Given the description of an element on the screen output the (x, y) to click on. 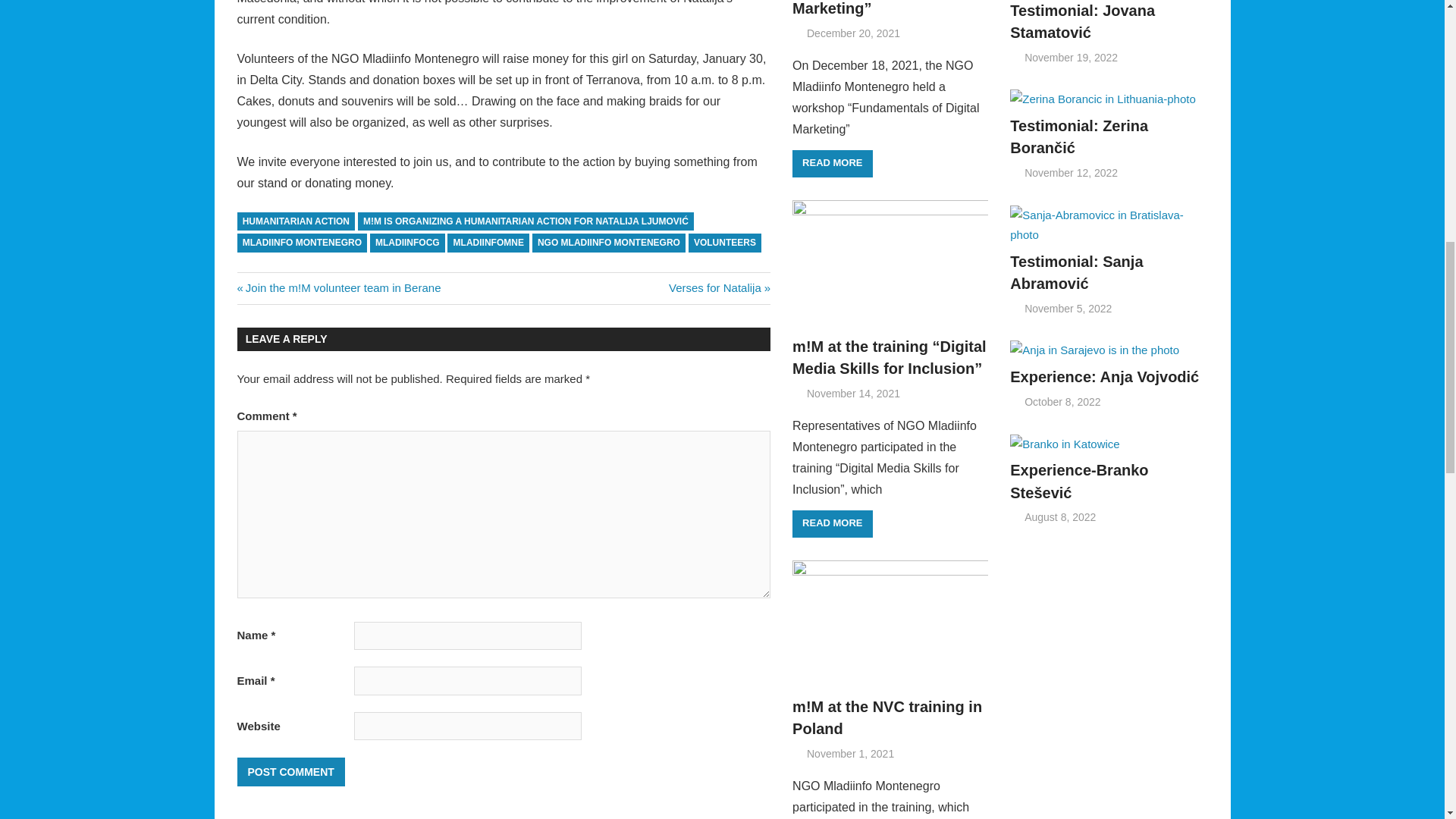
December 20, 2021 (852, 33)
HUMANITARIAN ACTION (295, 221)
15:12 (849, 753)
NGO MLADIINFO MONTENEGRO (608, 242)
Post Comment (289, 772)
15:51 (852, 33)
READ MORE (832, 163)
MLADIINFOMNE (487, 242)
MLADIINFO MONTENEGRO (338, 287)
